Given the description of an element on the screen output the (x, y) to click on. 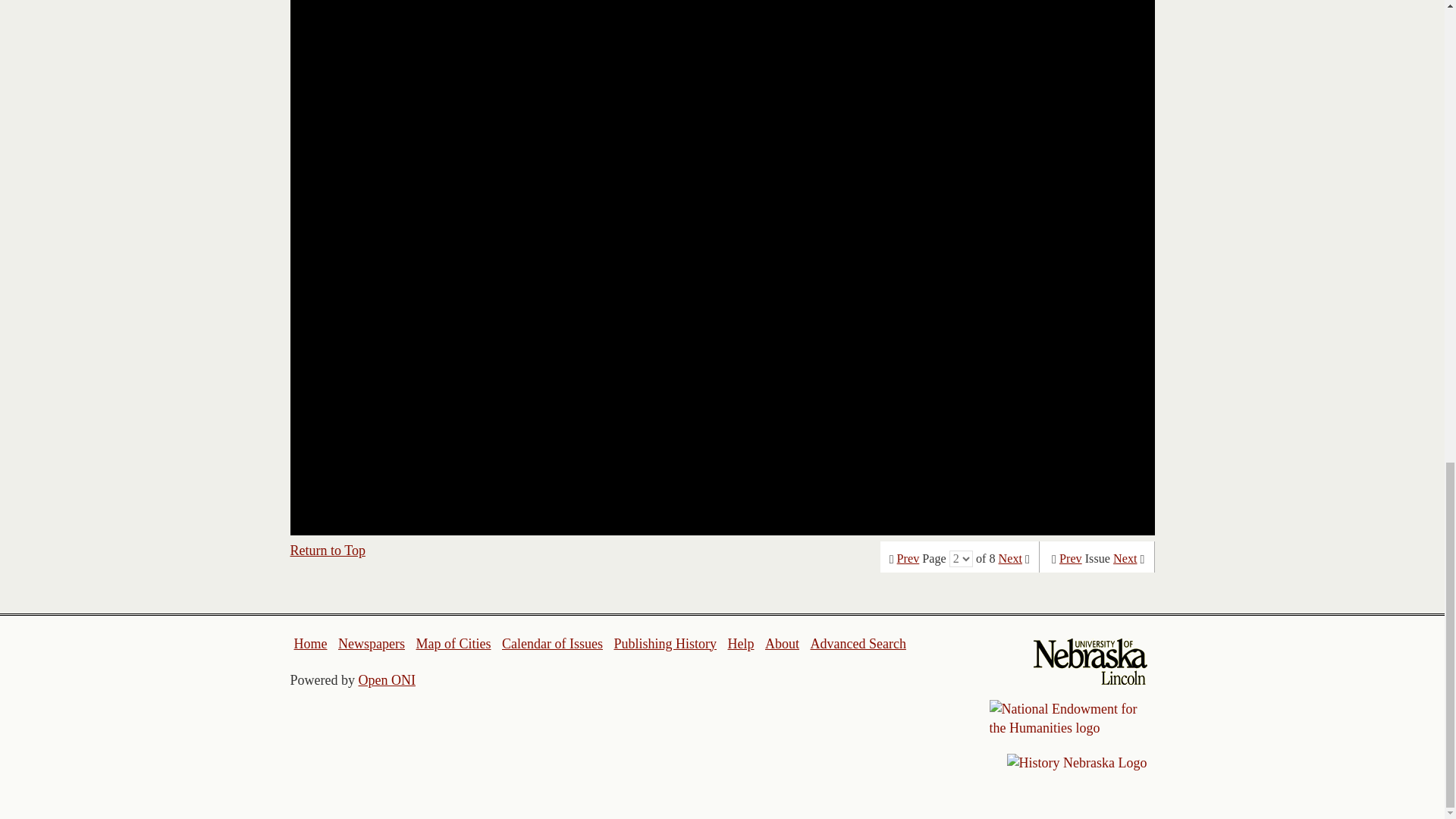
Help (740, 643)
Newspapers (370, 643)
Prev (908, 558)
Advanced Search (857, 643)
Open ONI (386, 679)
Return to Top (327, 549)
About (782, 643)
Next (1125, 558)
Prev (1070, 558)
Publishing History (664, 643)
